Given the description of an element on the screen output the (x, y) to click on. 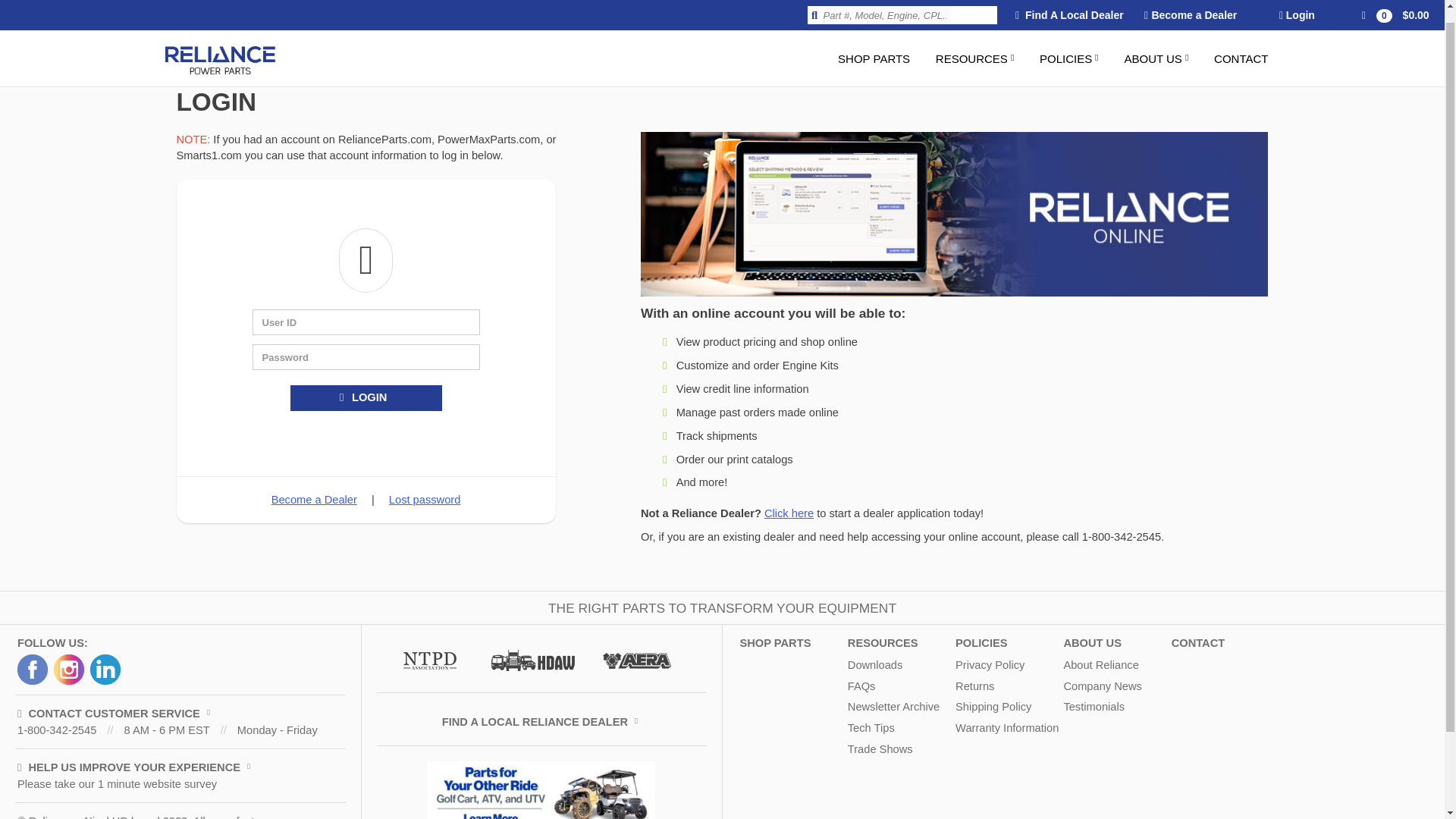
POLICIES (1068, 44)
Login (1296, 8)
Follow Us On LinkedIn (105, 669)
  Find A Local Dealer (1069, 8)
SHOP PARTS (874, 44)
Opens a widget where you can find more information (1386, 778)
CONTACT (1240, 44)
Become a Dealer (1190, 8)
RESOURCES (975, 44)
ABOUT US (1155, 44)
Follow Us On Facebook (32, 669)
Follow Us On Instagram (68, 669)
